Given the description of an element on the screen output the (x, y) to click on. 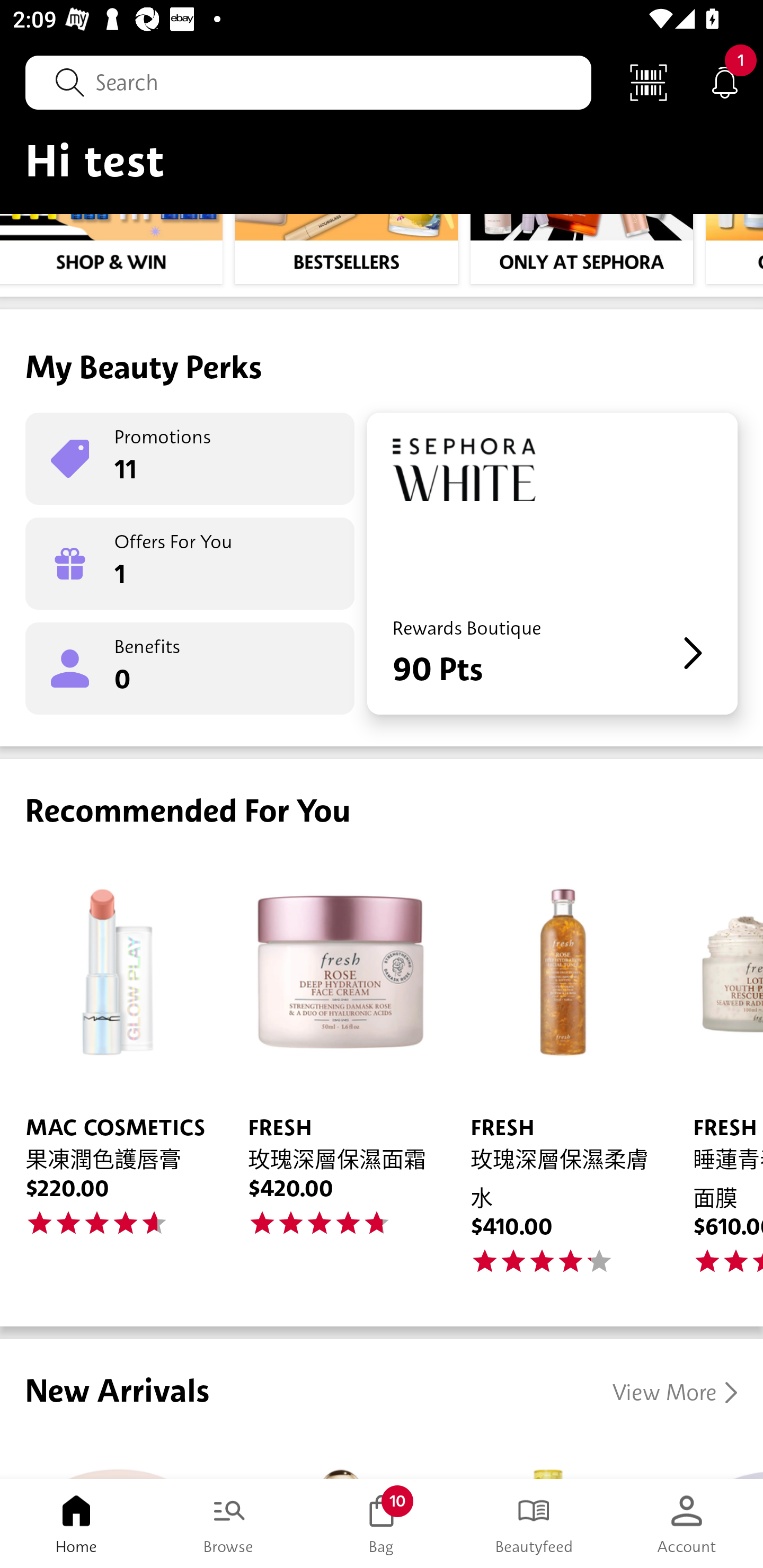
Scan Code (648, 81)
Notifications (724, 81)
Search (308, 81)
Promotions 11 (189, 458)
Rewards Boutique 90 Pts (552, 563)
Offers For You 1 (189, 563)
Benefits 0 (189, 668)
MAC COSMETICS 果凍潤色護唇膏 $220.00 46.0 (111, 1072)
FRESH 玫瑰深層保濕面霜  $420.00 47.0 (333, 1072)
FRESH 玫瑰深層保濕柔膚水 $410.00 42.0 (555, 1072)
New Arrivals View More (381, 1408)
View More (674, 1392)
Browse (228, 1523)
Bag 10 Bag (381, 1523)
Beautyfeed (533, 1523)
Account (686, 1523)
